Given the description of an element on the screen output the (x, y) to click on. 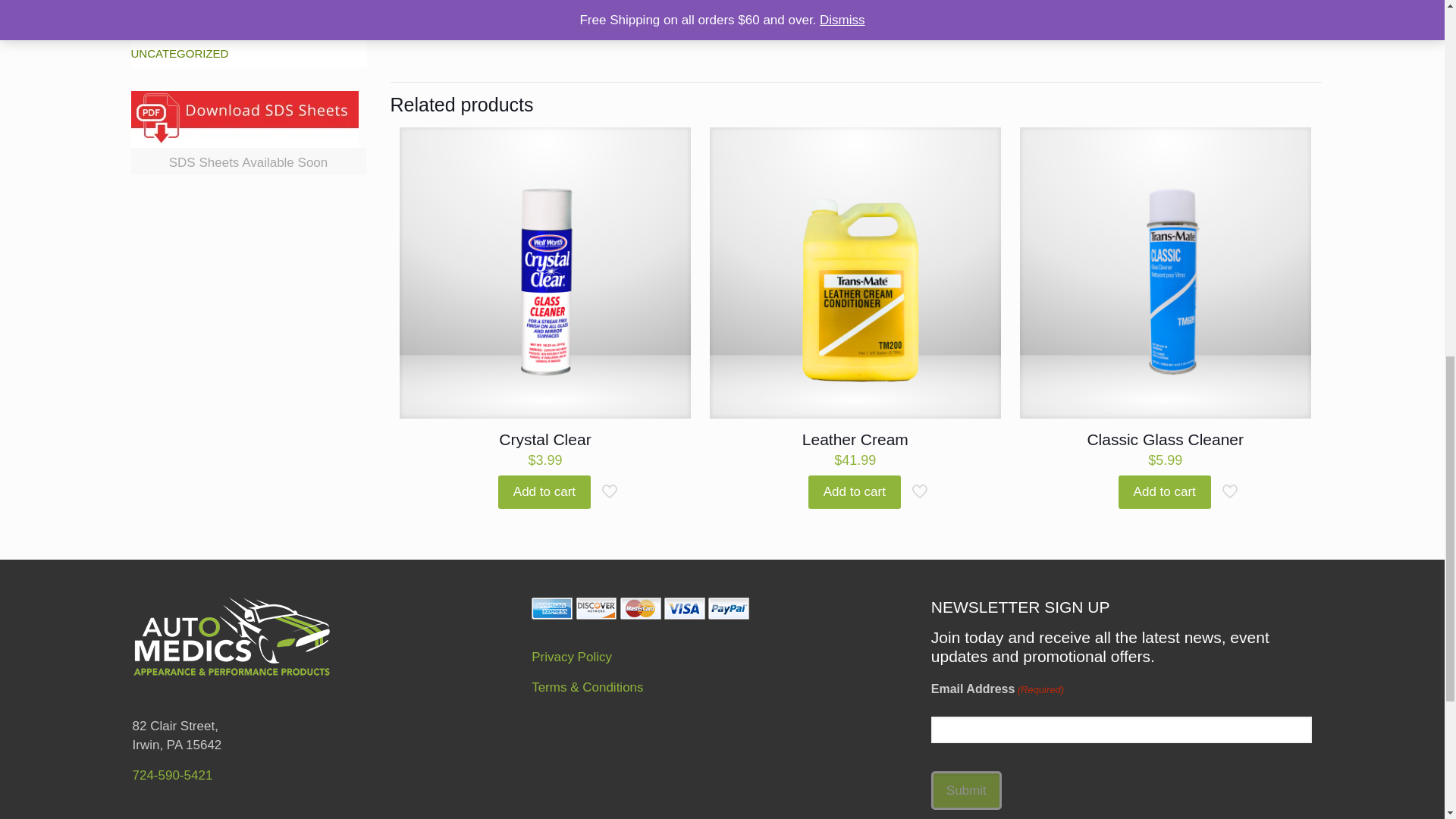
Crystal Clear (545, 438)
Submit (966, 790)
Add to cart (544, 491)
